Given the description of an element on the screen output the (x, y) to click on. 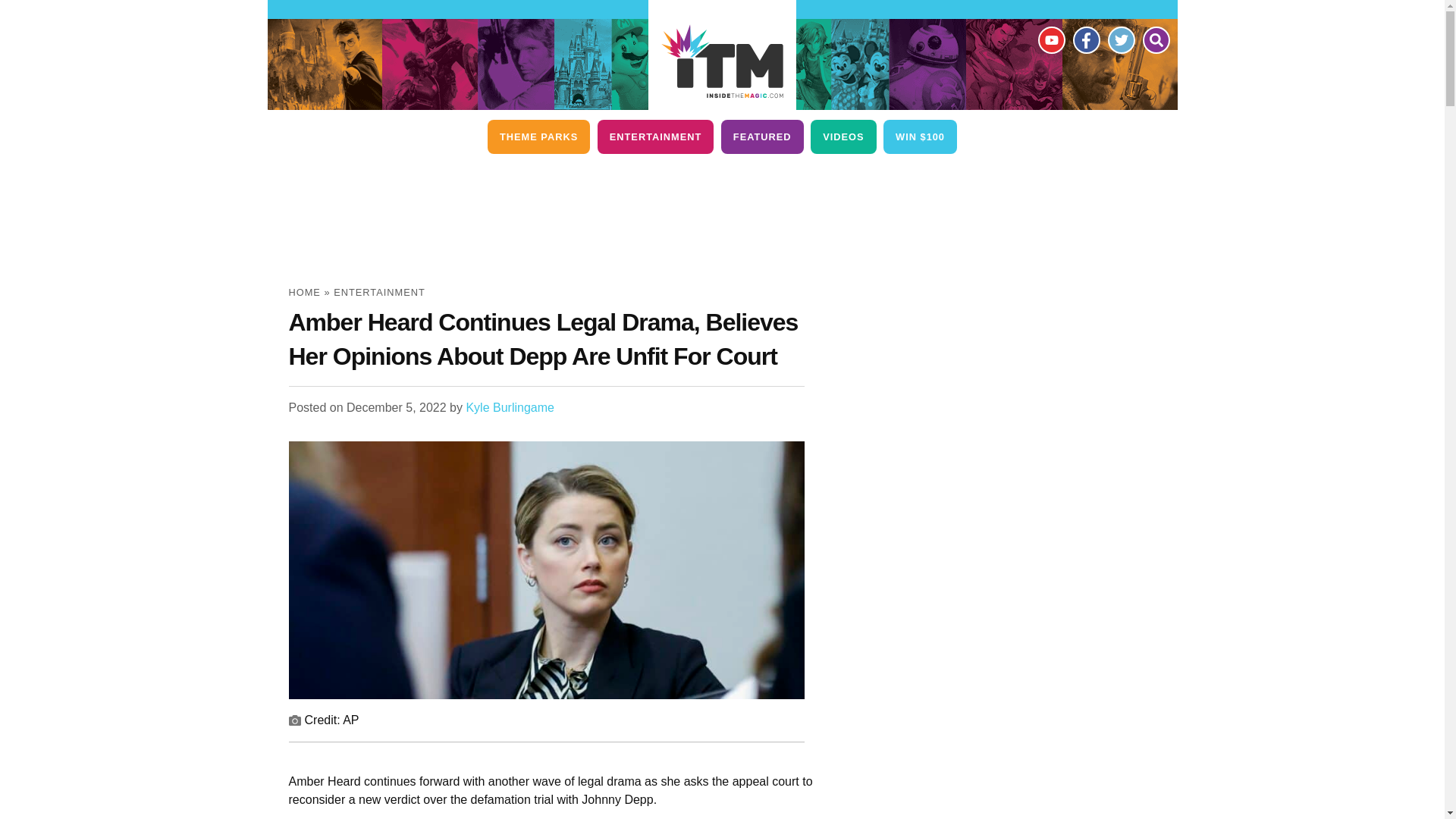
THEME PARKS (538, 136)
FEATURED (761, 136)
Twitter (1120, 40)
YouTube (1050, 40)
Search (1155, 40)
ENTERTAINMENT (655, 136)
Facebook (1085, 40)
